Given the description of an element on the screen output the (x, y) to click on. 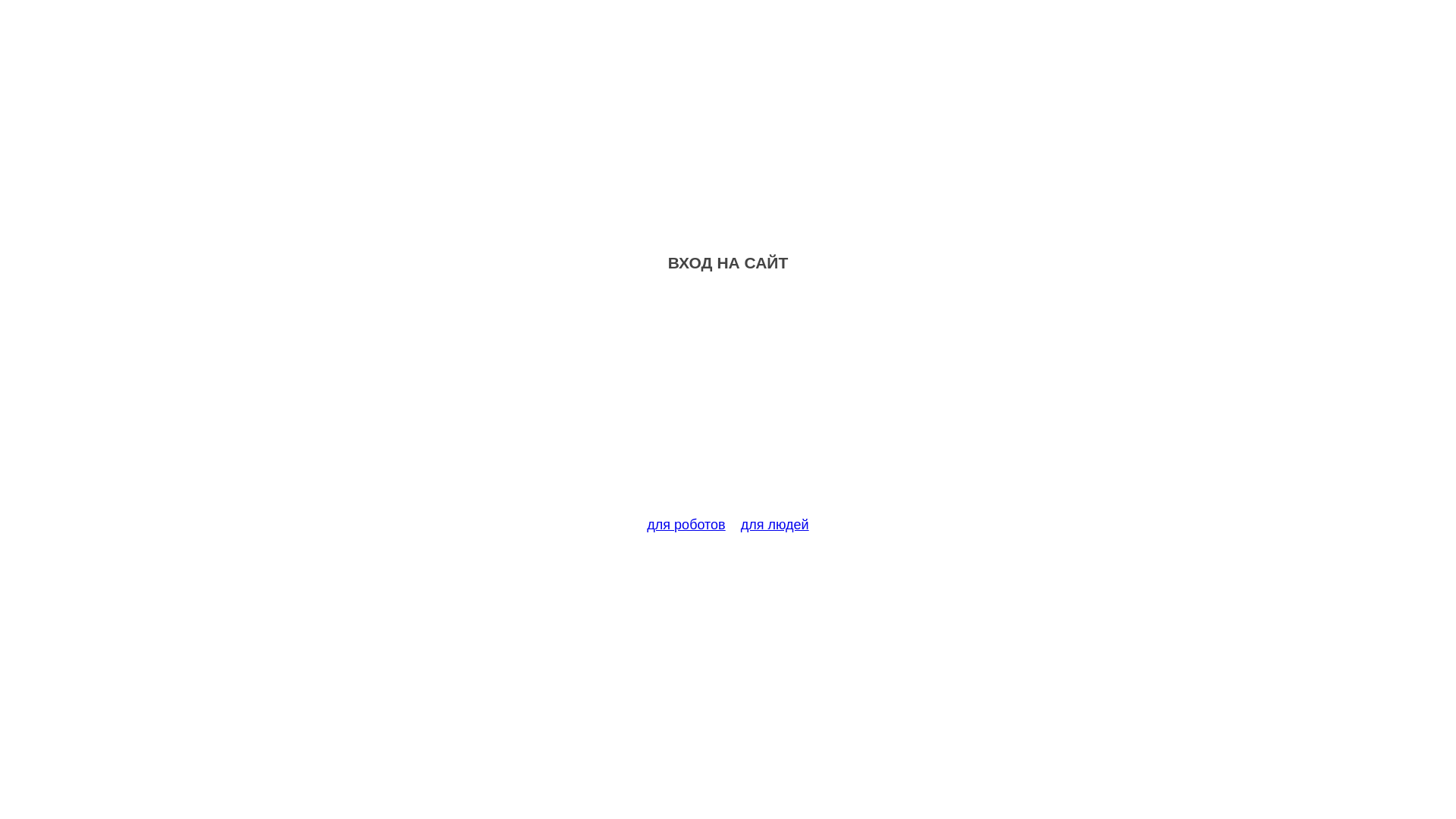
Advertisement Element type: hover (727, 403)
